Given the description of an element on the screen output the (x, y) to click on. 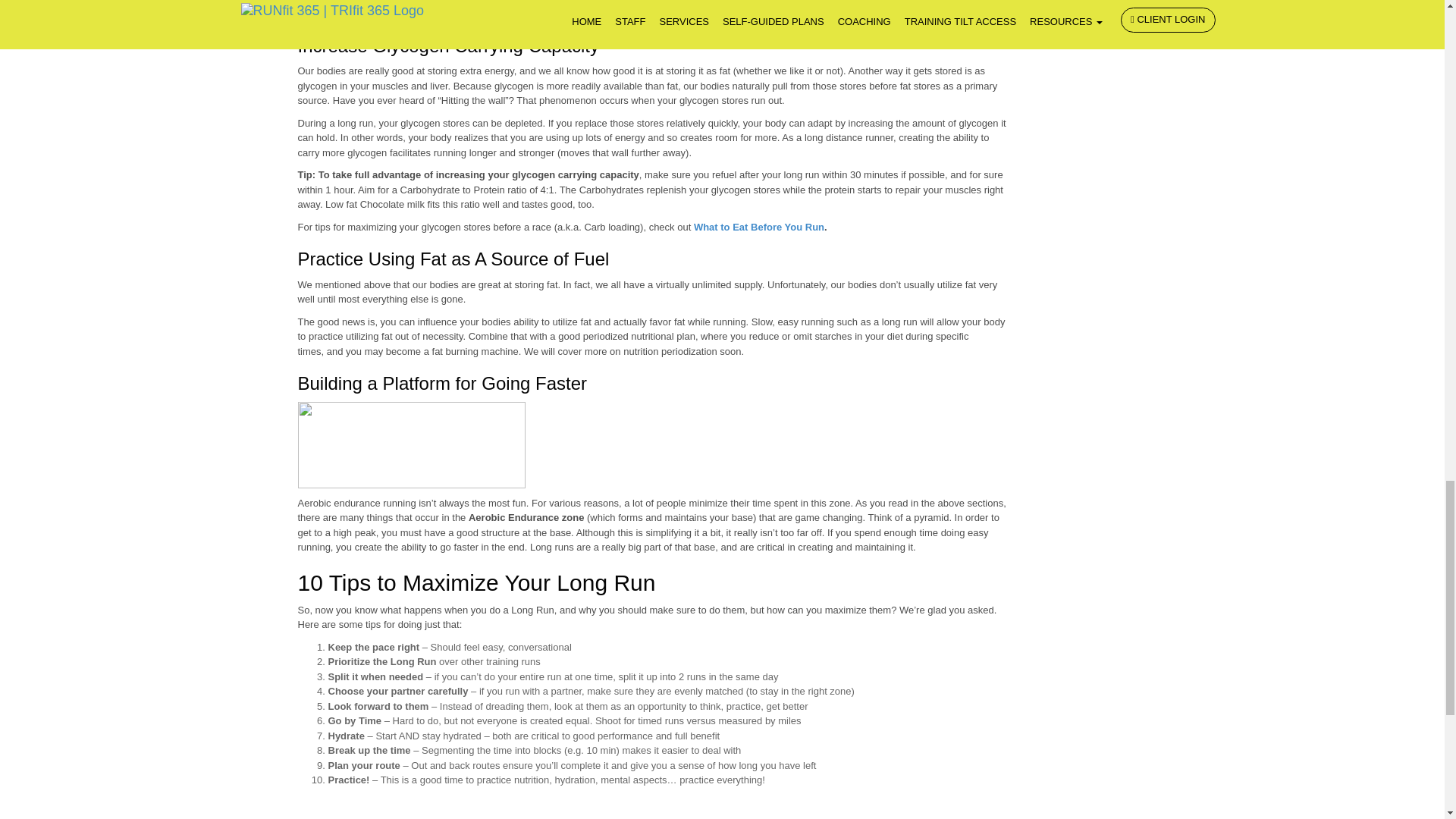
The Mental Side of Running (657, 12)
What to Eat Before You Run (759, 226)
What to Eat Before You Run (759, 226)
